Given the description of an element on the screen output the (x, y) to click on. 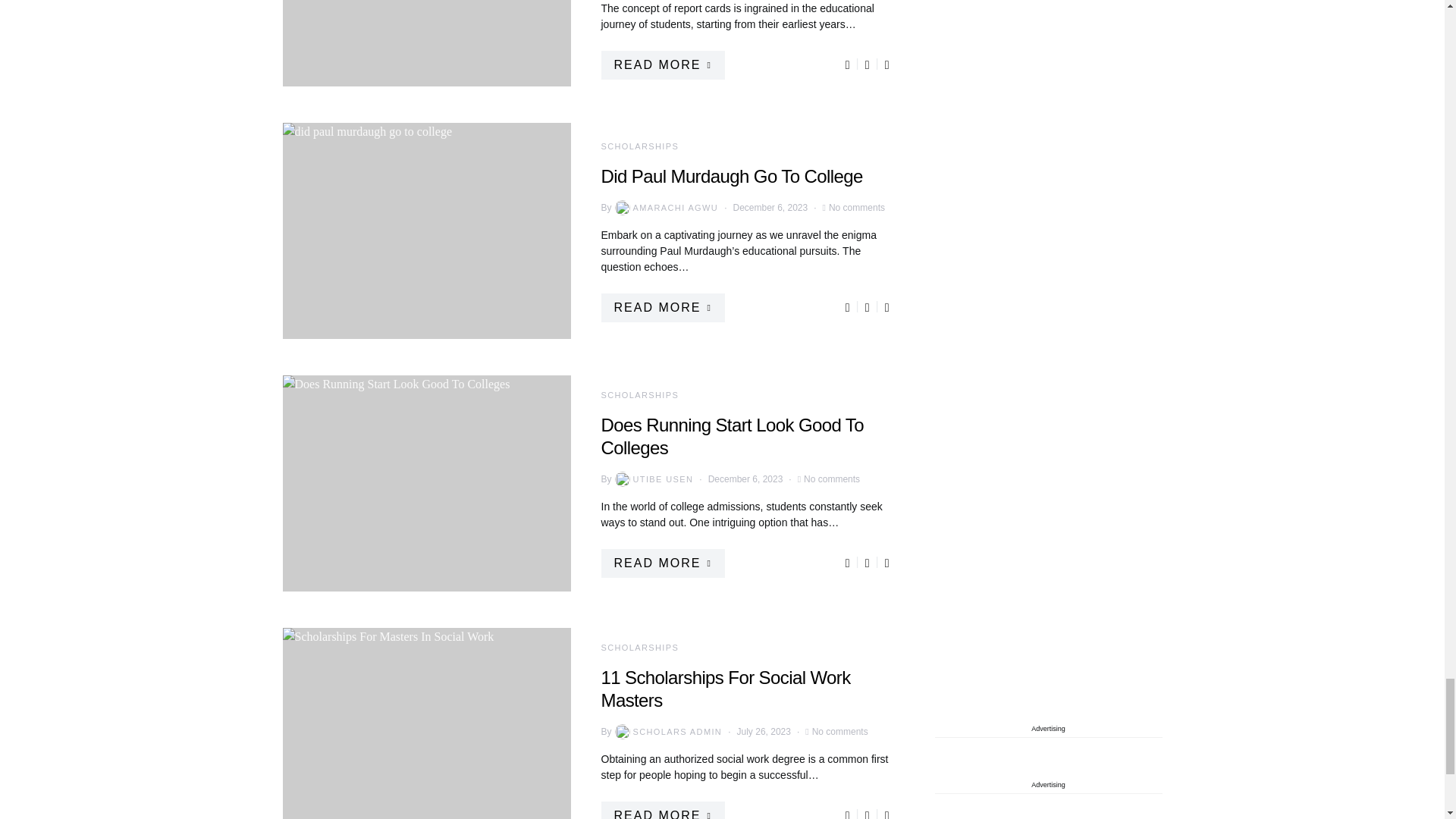
View all posts by Scholars Admin (666, 731)
View all posts by Utibe Usen (652, 478)
View all posts by Amarachi Agwu (665, 207)
